Given the description of an element on the screen output the (x, y) to click on. 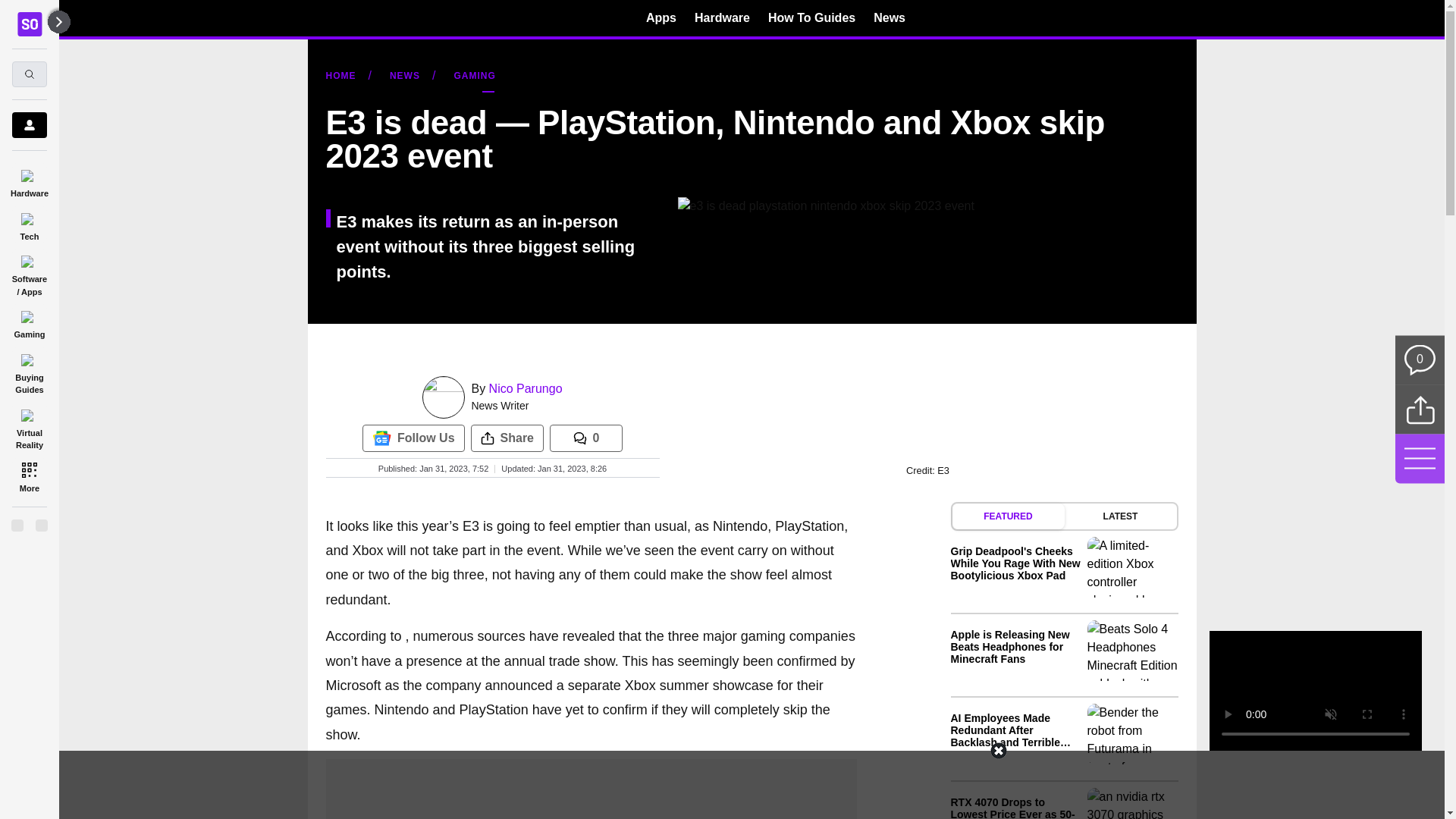
News (889, 18)
More (28, 476)
3rd party ad content (721, 785)
Apps (661, 18)
3rd party ad content (590, 789)
Hardware (721, 18)
Gaming (28, 322)
Hardware (28, 180)
How To Guides (812, 18)
Tech (28, 224)
